Given the description of an element on the screen output the (x, y) to click on. 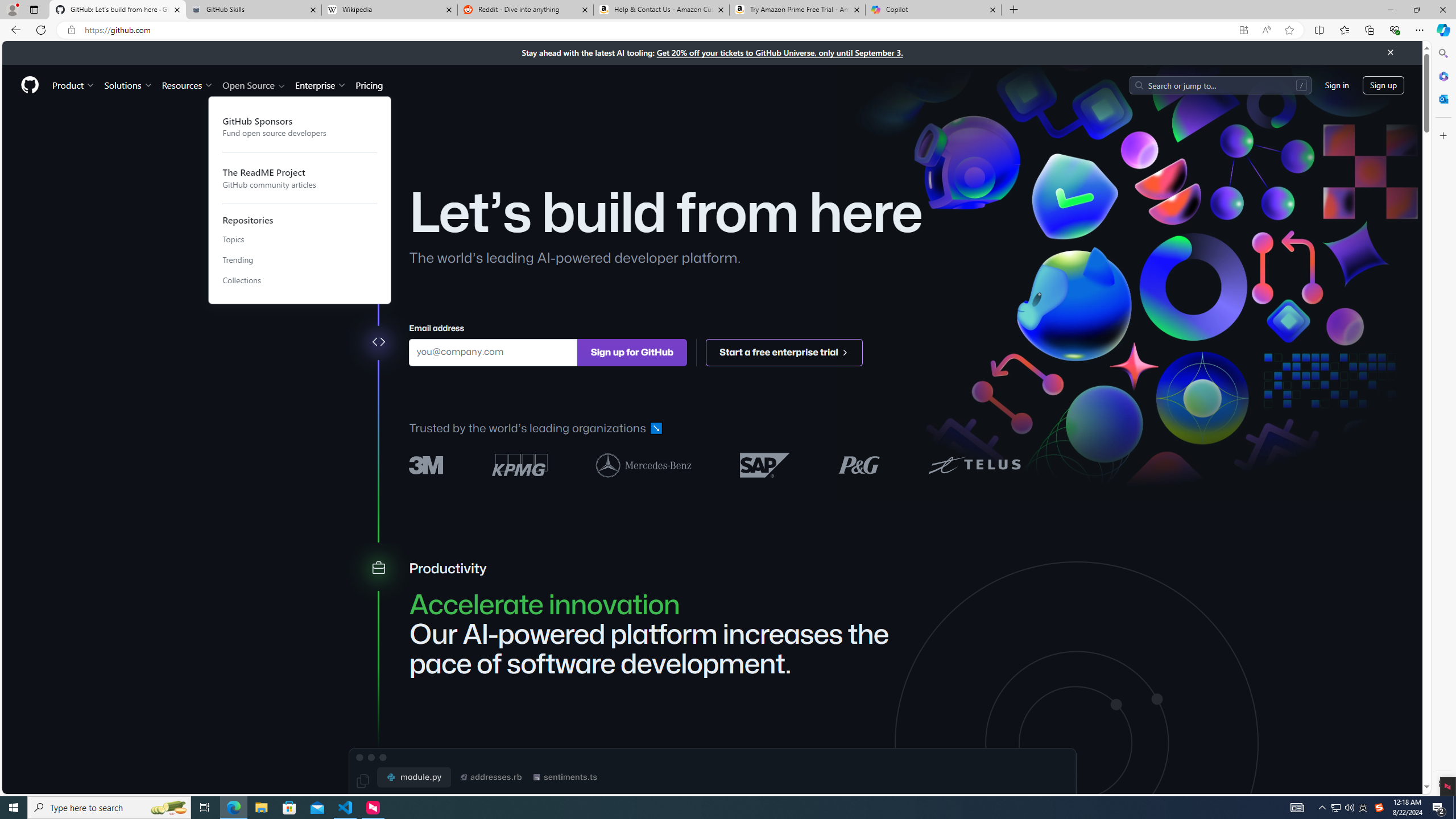
Product (74, 84)
Enterprise (319, 84)
Resources (187, 84)
Pricing (368, 84)
Email address (492, 352)
3M logo (426, 465)
App available. Install GitHub (1243, 29)
Enterprise (319, 84)
Trending (299, 259)
Side bar (1443, 418)
Copilot (933, 9)
